Given the description of an element on the screen output the (x, y) to click on. 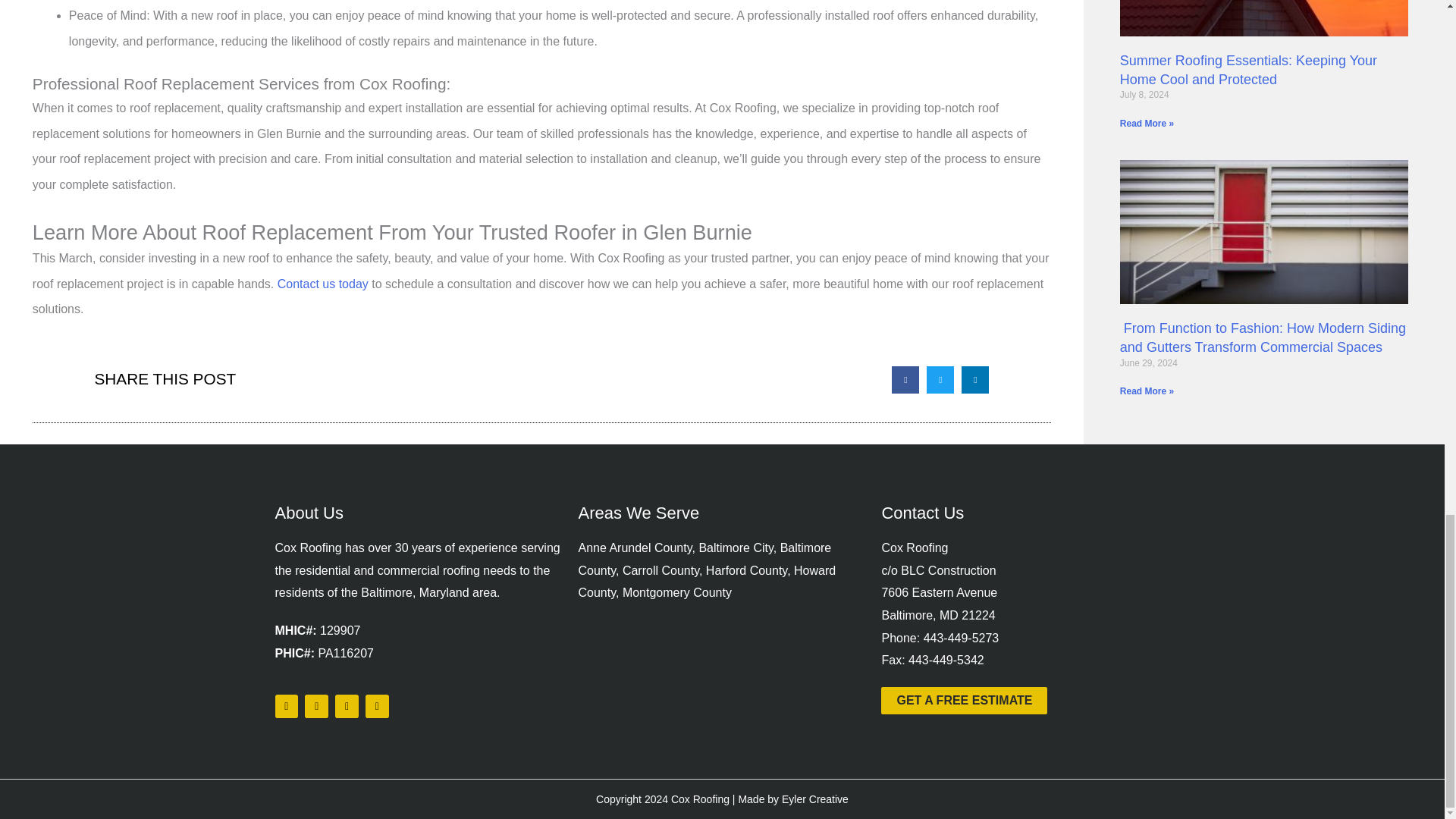
Contact us today (323, 283)
